Given the description of an element on the screen output the (x, y) to click on. 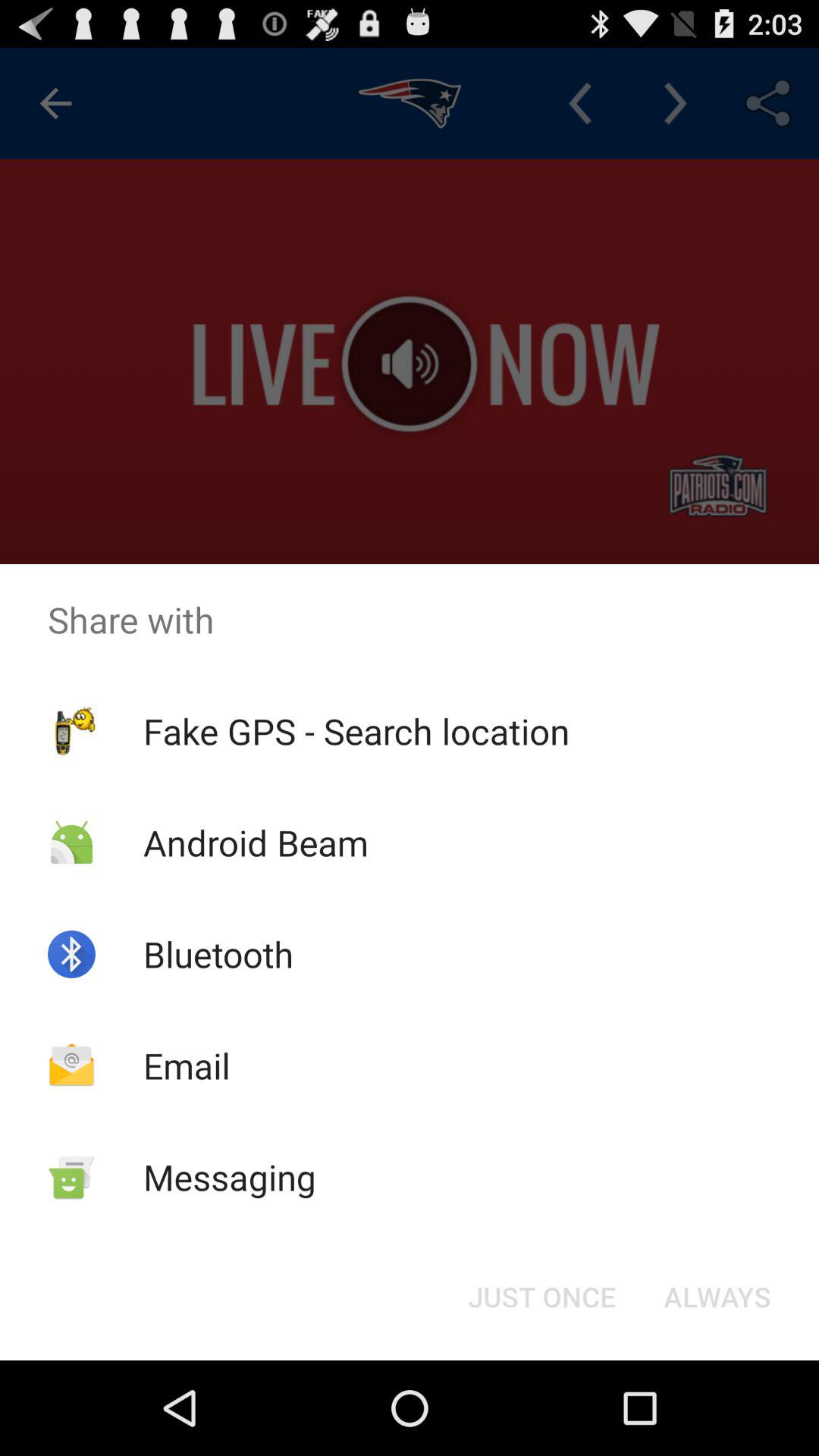
click the icon above android beam item (356, 730)
